Given the description of an element on the screen output the (x, y) to click on. 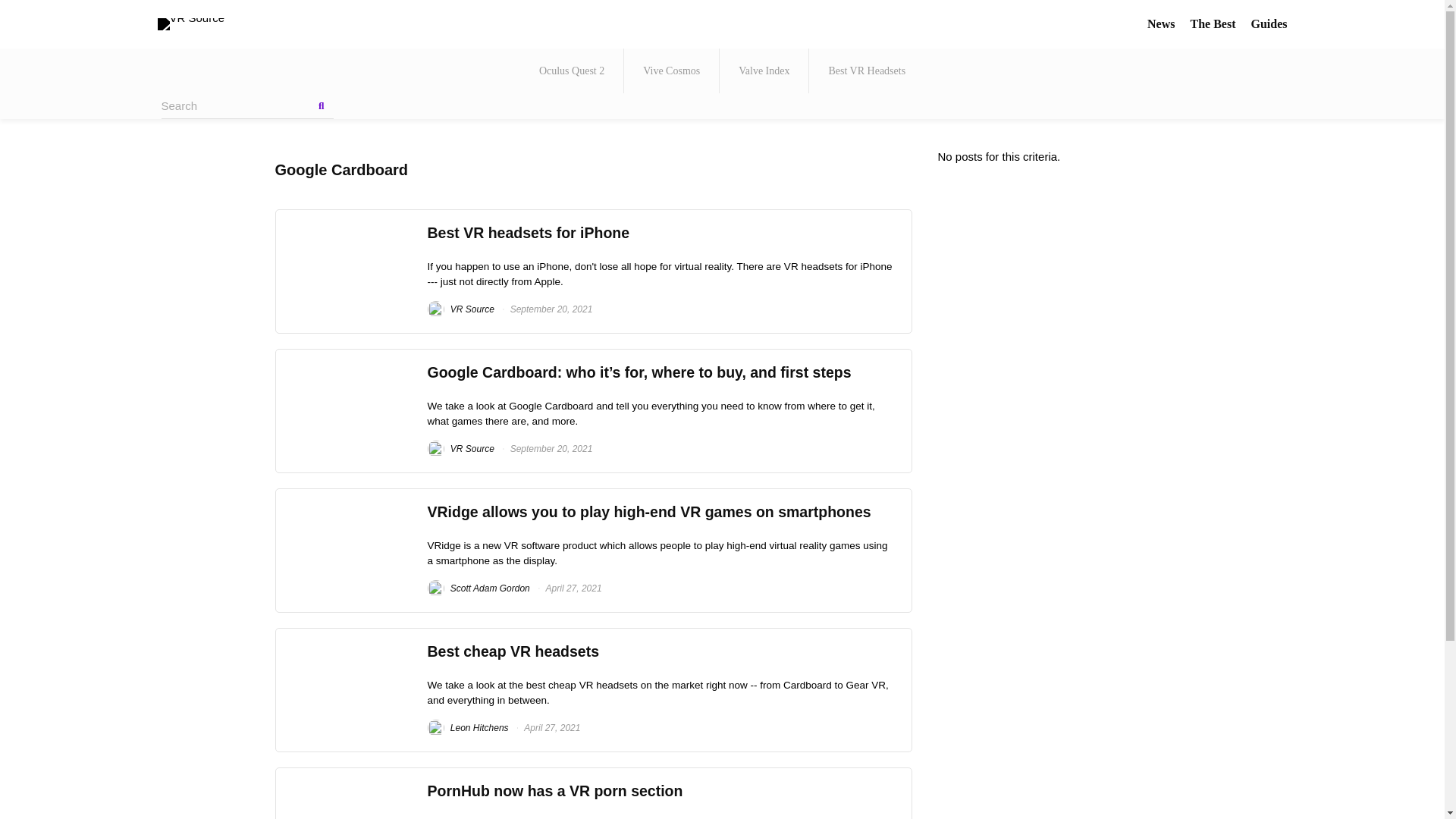
VR Source (461, 308)
Best cheap VR headsets (513, 651)
PornHub now has a VR porn section (555, 790)
VRidge allows you to play high-end VR games on smartphones (649, 511)
Best VR headsets for iPhone (529, 232)
Oculus Quest 2 (571, 70)
VR Source (461, 448)
Valve Index (764, 70)
The Best (1211, 23)
Guides (1268, 23)
News (1160, 23)
Scott Adam Gordon (478, 588)
Leon Hitchens (468, 727)
Best VR Headsets (866, 70)
Vive Cosmos (671, 70)
